Given the description of an element on the screen output the (x, y) to click on. 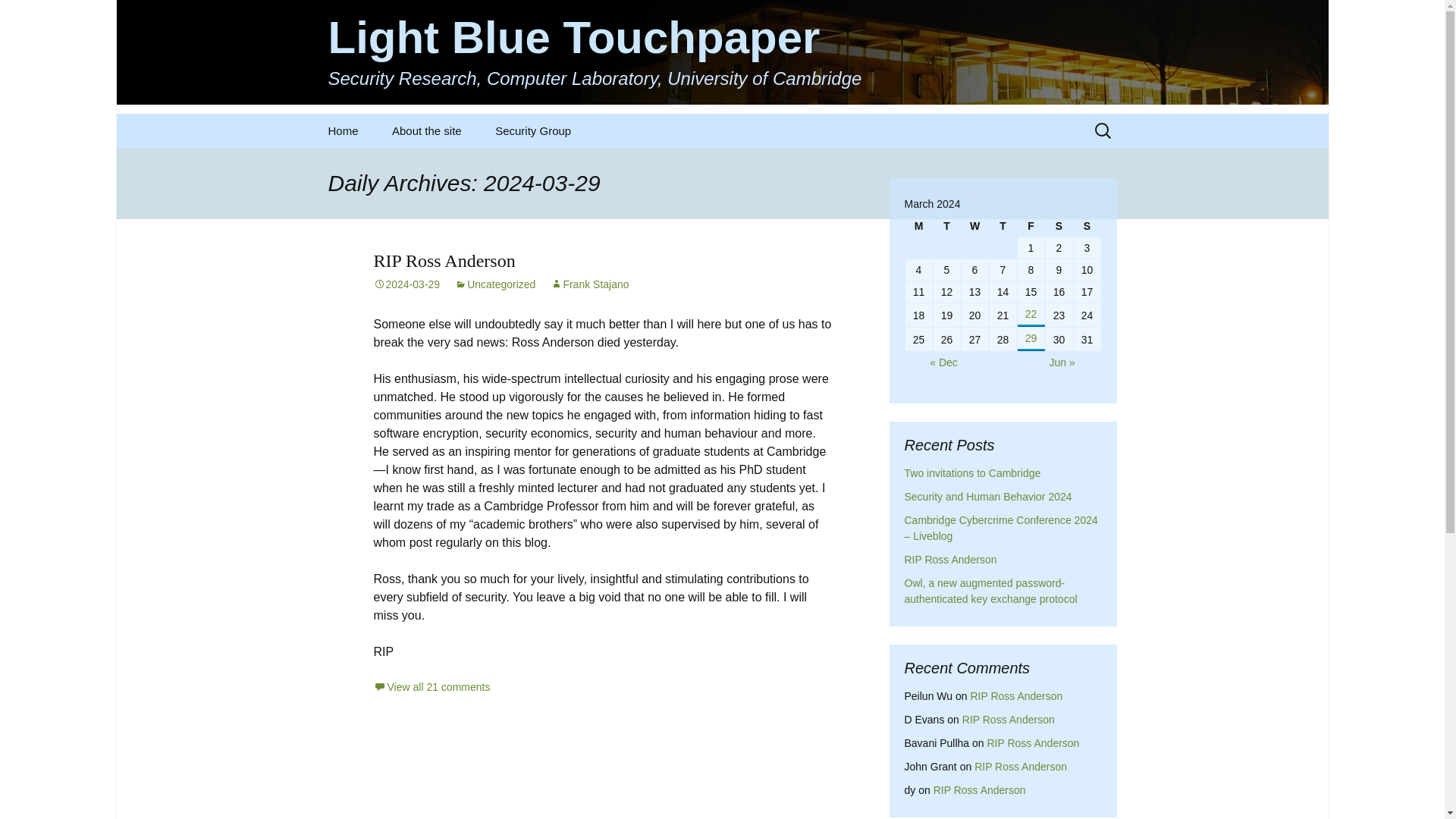
RIP Ross Anderson (1020, 766)
RIP Ross Anderson (1032, 743)
Friday (1031, 225)
RIP Ross Anderson (1008, 719)
Home (342, 130)
RIP Ross Anderson (979, 789)
Frank Stajano (589, 284)
About the site (427, 130)
Permalink to RIP Ross Anderson (405, 284)
